Given the description of an element on the screen output the (x, y) to click on. 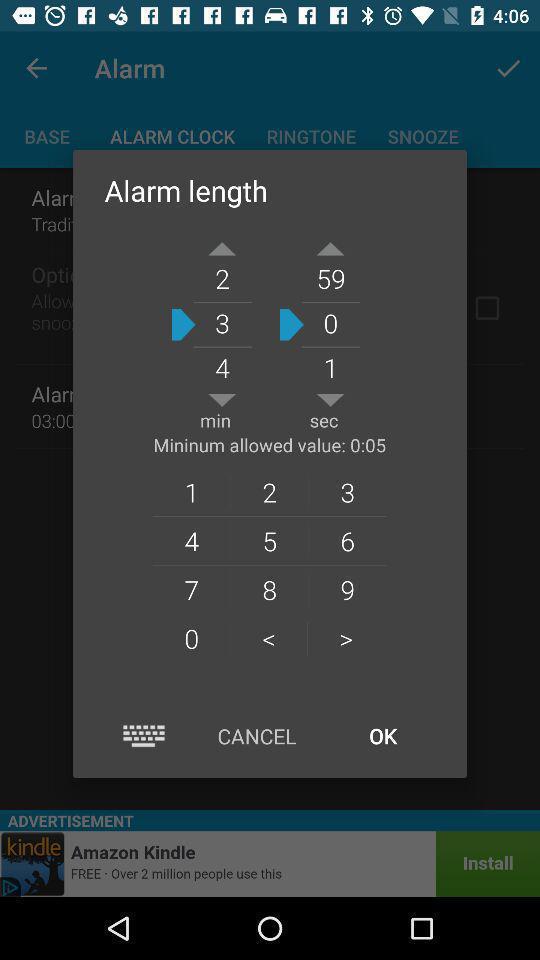
turn on item to the right of the 4 (269, 589)
